Given the description of an element on the screen output the (x, y) to click on. 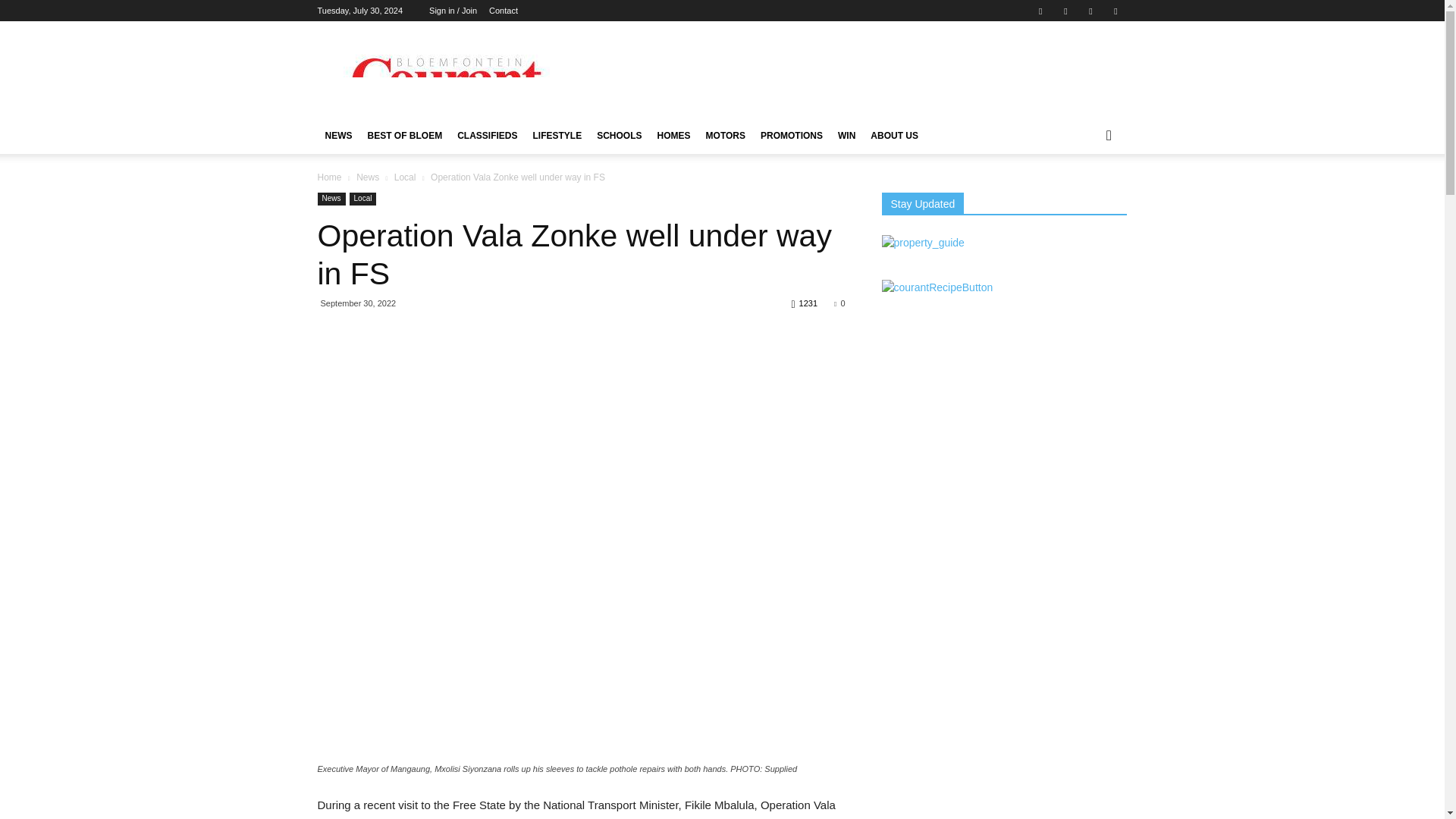
Twitter (1090, 10)
Bloemfontein Courant - News you can use (445, 76)
Facebook (1040, 10)
Mail (1065, 10)
Youtube (1114, 10)
